Given the description of an element on the screen output the (x, y) to click on. 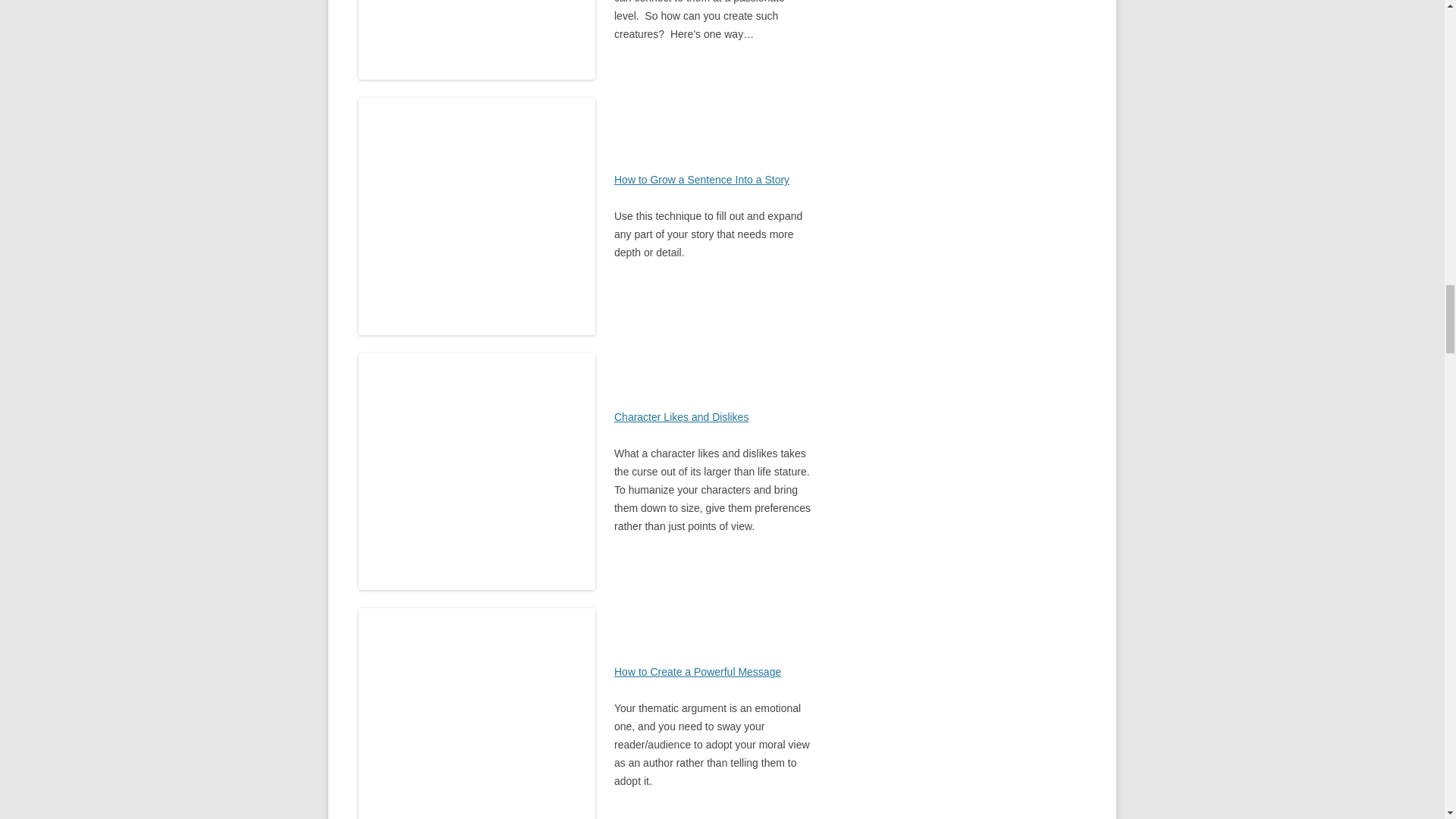
How to Create a Powerful Message (697, 671)
Character Likes and Dislikes (681, 417)
How to Grow a Sentence Into a Story (701, 179)
